Given the description of an element on the screen output the (x, y) to click on. 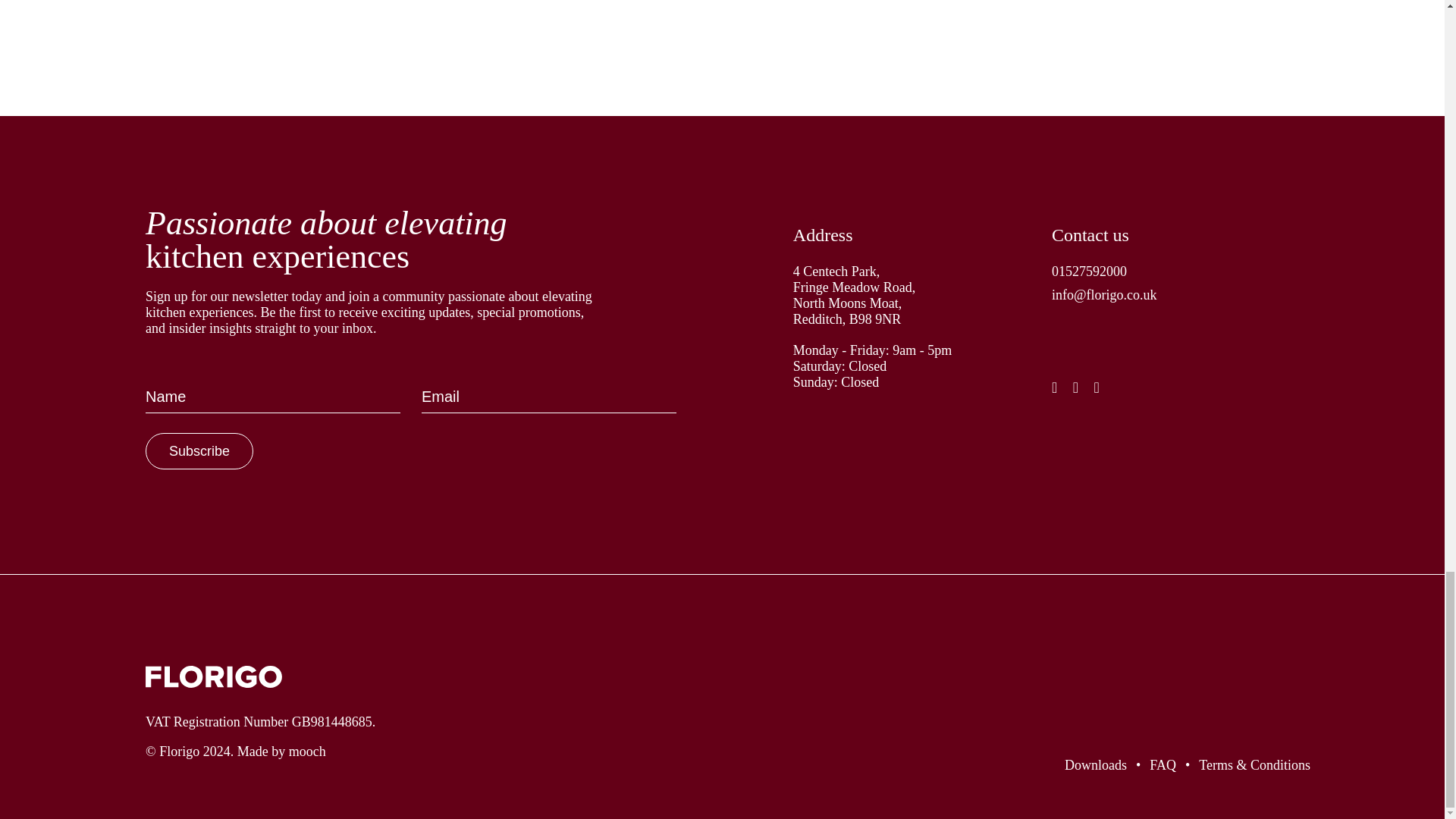
Downloads (1095, 765)
Subscribe (199, 451)
FAQ (1163, 765)
Subscribe (199, 451)
01527592000 (1180, 275)
